Given the description of an element on the screen output the (x, y) to click on. 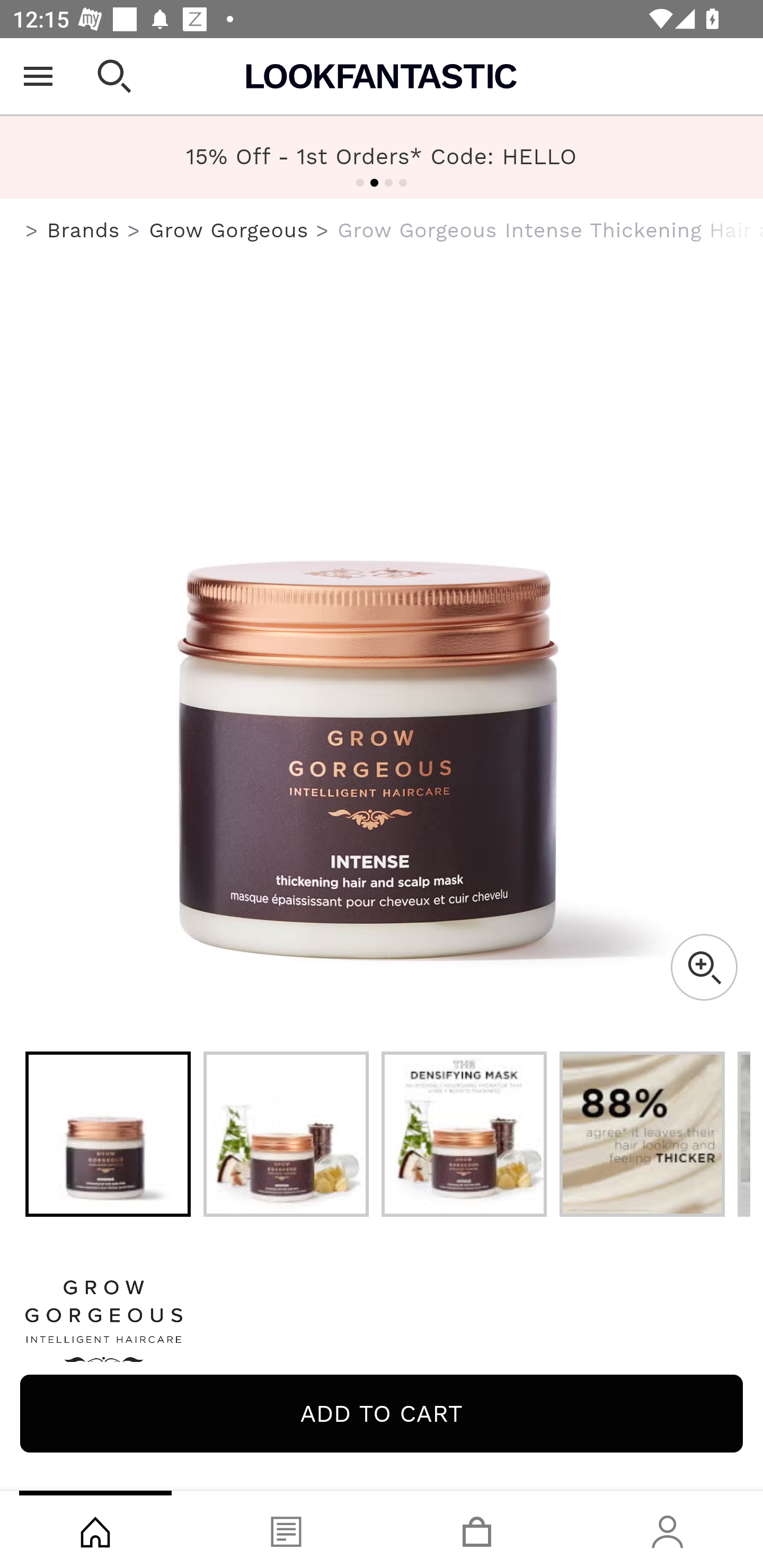
Open Menu (38, 75)
Open search (114, 75)
Lookfantastic USA (381, 75)
FREE US Shipping Over $40 (381, 157)
us.lookfantastic (32, 230)
Brands (82, 230)
Grow Gorgeous (228, 230)
Zoom (703, 966)
Grow Gorgeous (381, 1327)
Add to cart (381, 1413)
Shop, tab, 1 of 4 (95, 1529)
Blog, tab, 2 of 4 (285, 1529)
Basket, tab, 3 of 4 (476, 1529)
Account, tab, 4 of 4 (667, 1529)
